Given the description of an element on the screen output the (x, y) to click on. 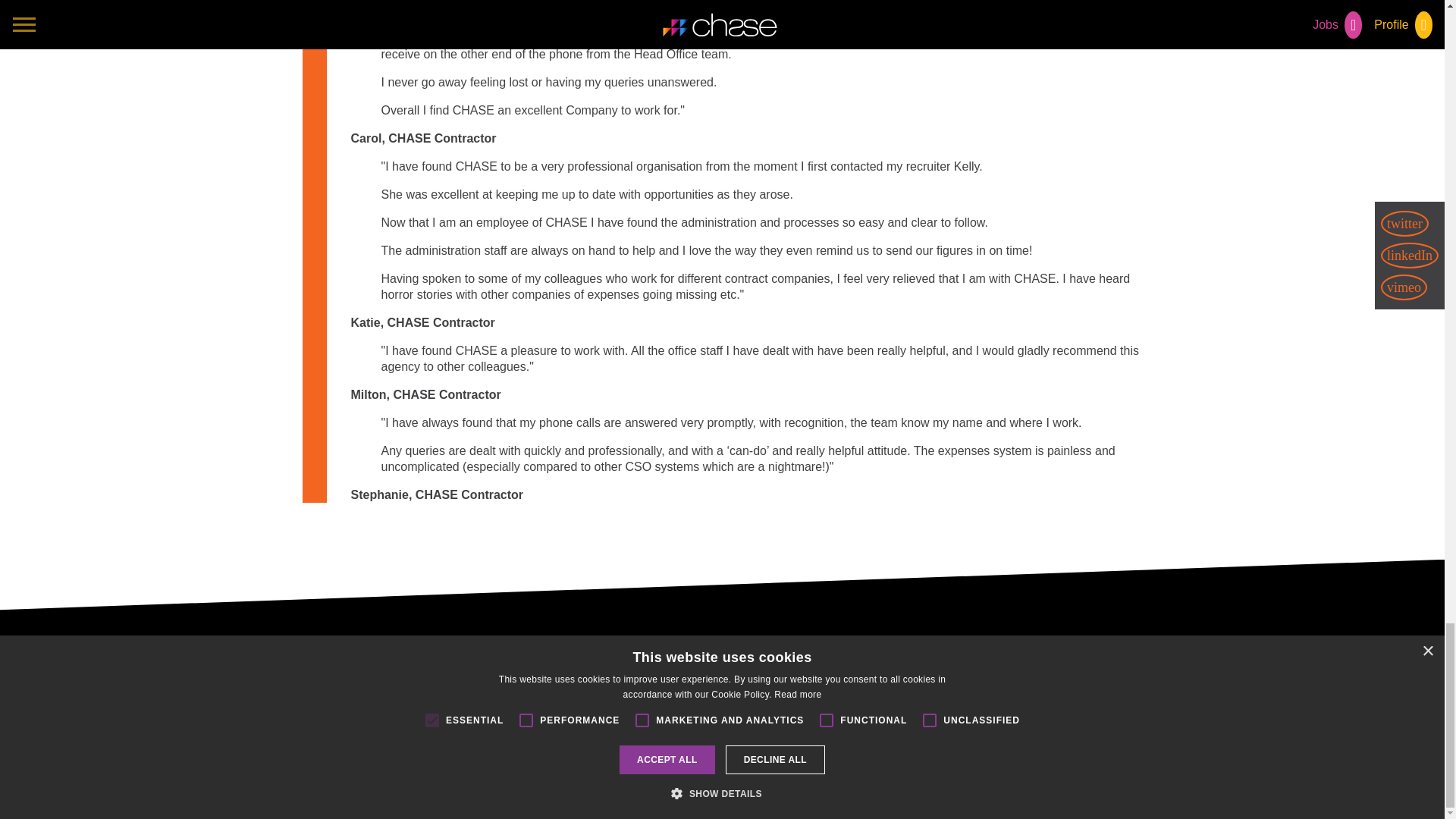
CHASE (721, 649)
Cookie Policy (433, 697)
Get in touch (347, 697)
